Given the description of an element on the screen output the (x, y) to click on. 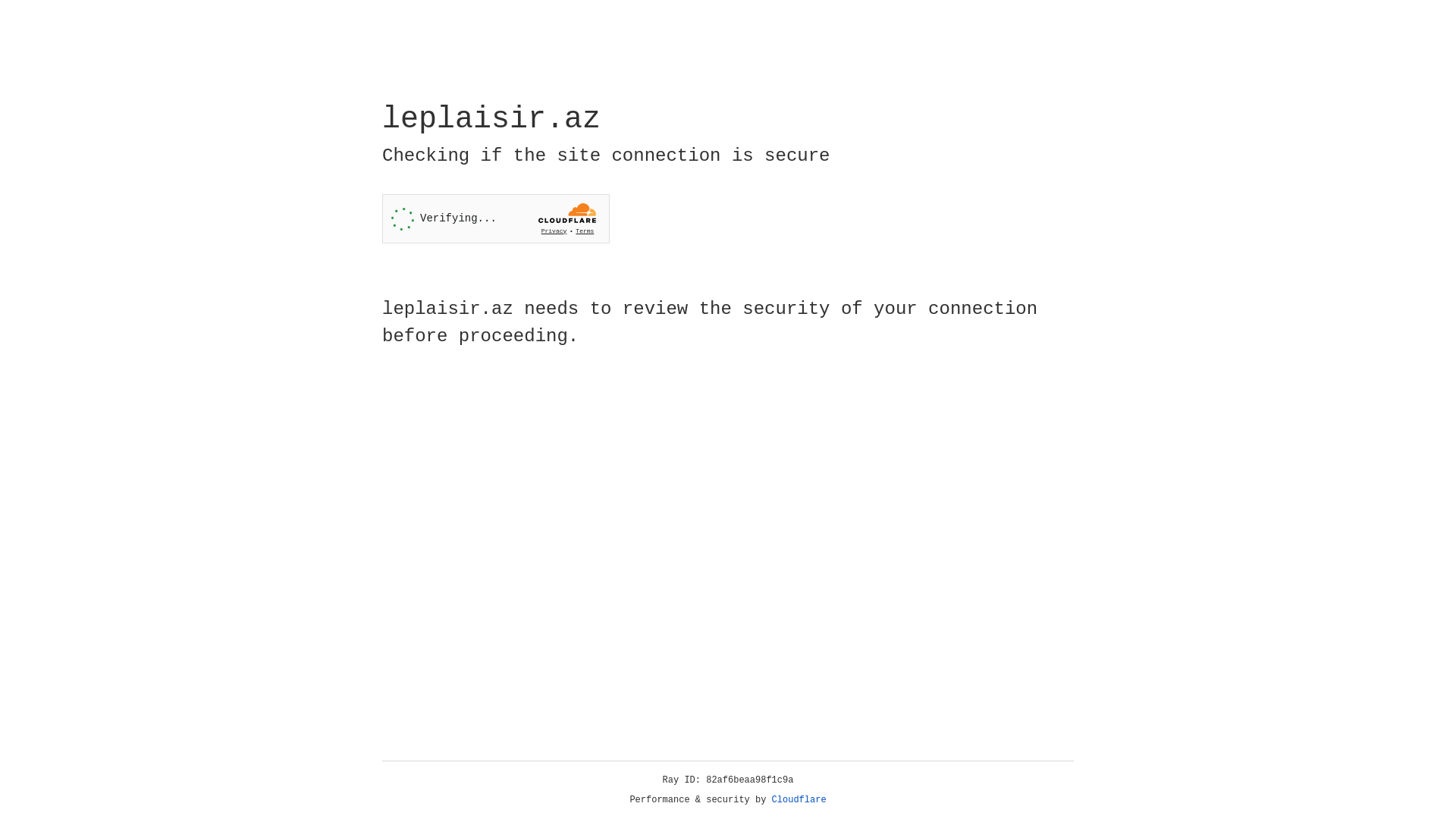
Widget containing a Cloudflare security challenge Element type: hover (495, 218)
Cloudflare Element type: text (798, 799)
